Given the description of an element on the screen output the (x, y) to click on. 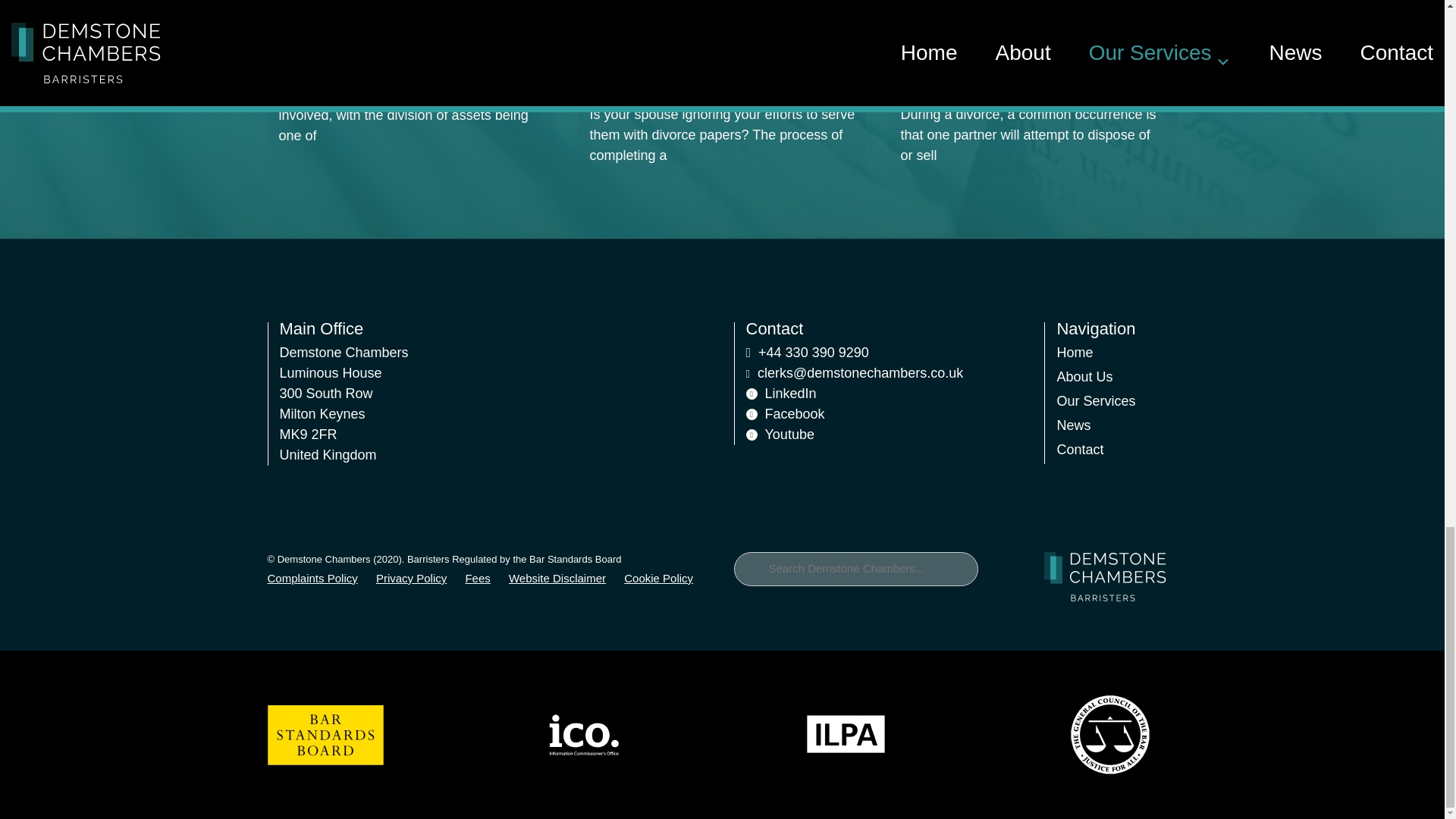
What Is A Freezing Order Used For In Divorce Proceedings? (1029, 70)
DIVORCE (927, 29)
How To Split Assets In A Divorce (398, 60)
DIVORCE (617, 29)
DIVORCE (306, 29)
